Given the description of an element on the screen output the (x, y) to click on. 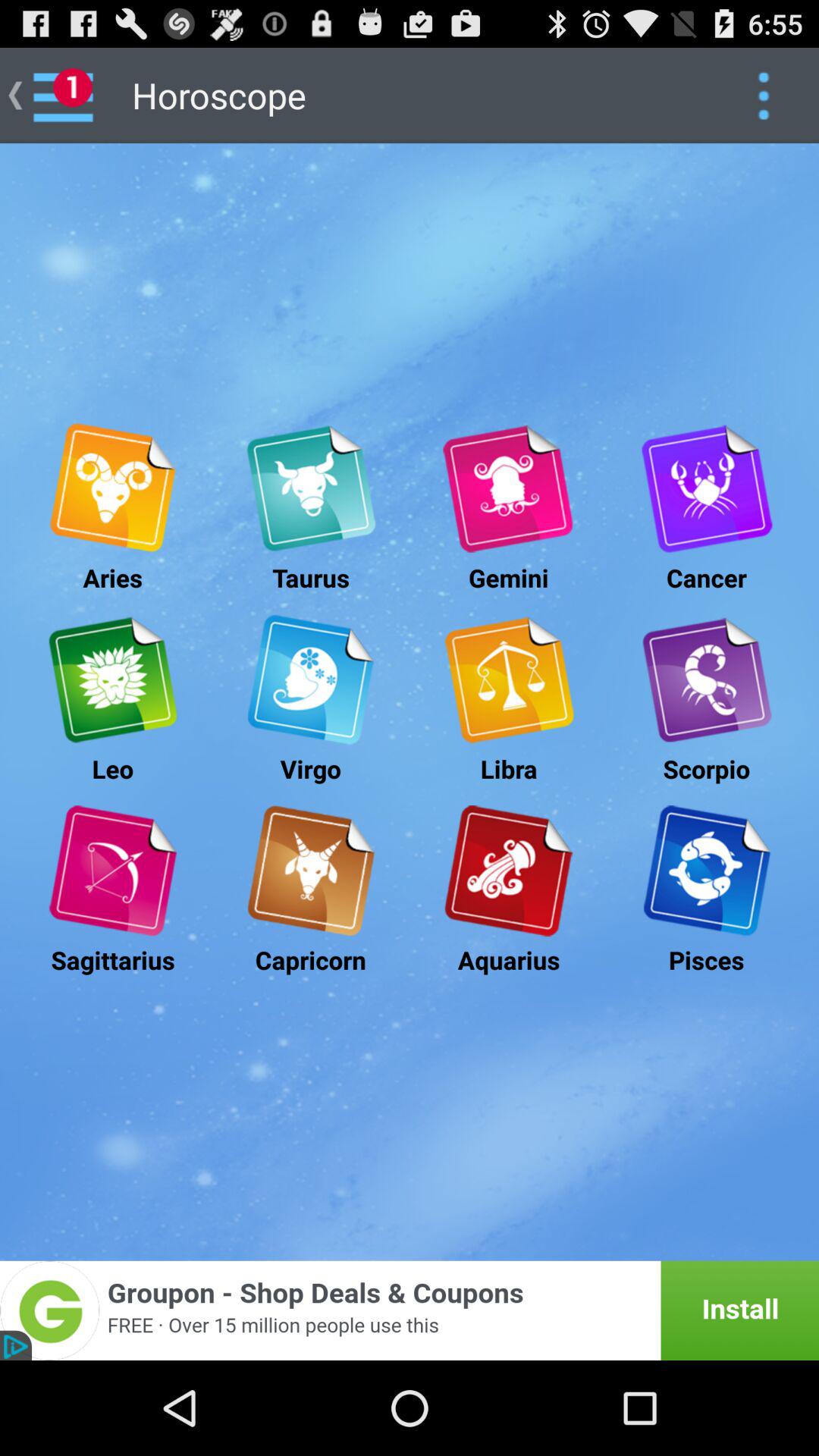
select capricorn (310, 870)
